Given the description of an element on the screen output the (x, y) to click on. 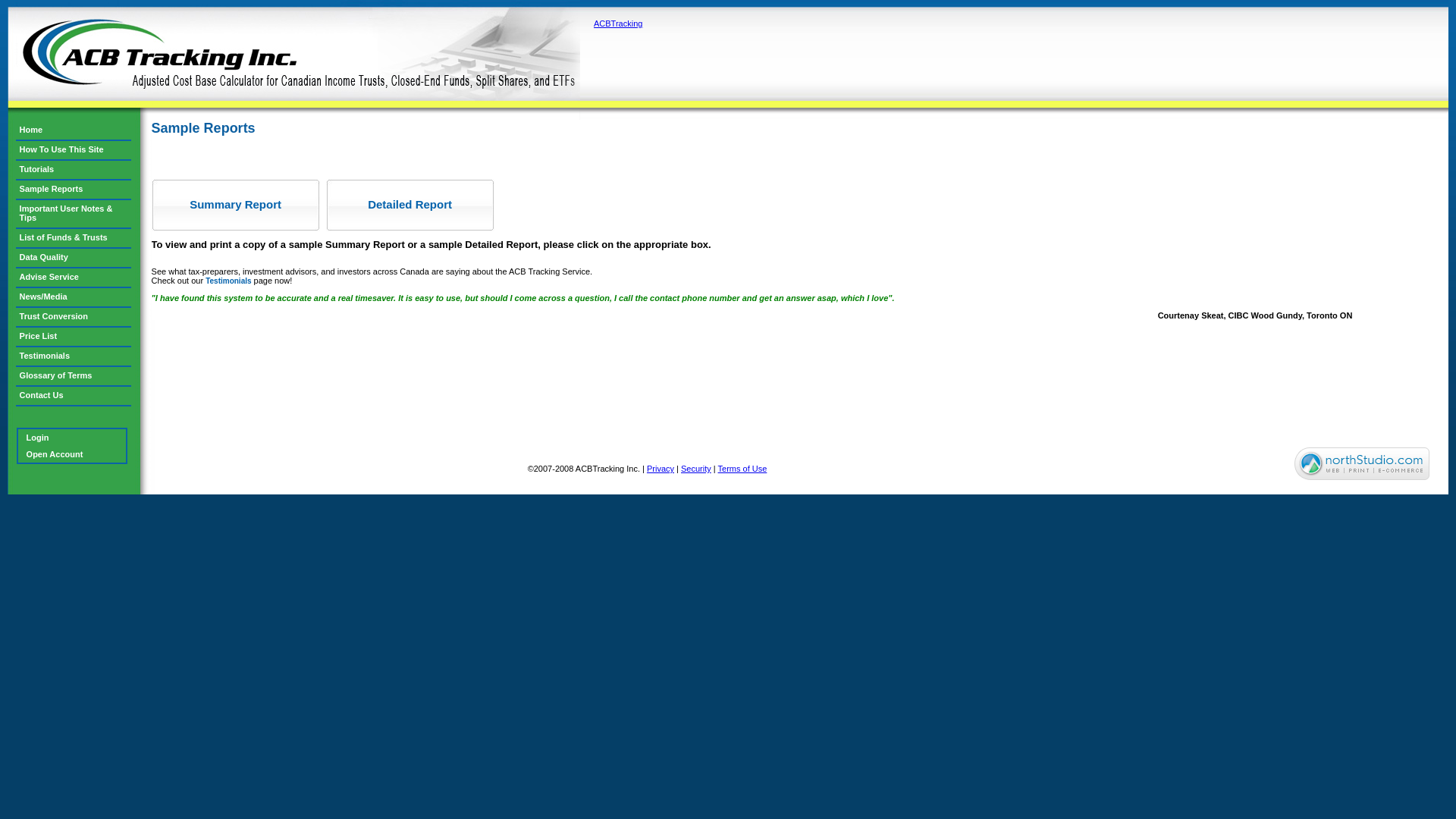
Terms of Use Element type: text (742, 468)
Data Quality Element type: text (73, 257)
Login Element type: text (68, 437)
Advise Service Element type: text (73, 277)
Privacy Element type: text (660, 468)
Detailed Report Element type: text (410, 204)
Testimonials Element type: text (228, 280)
Home Element type: text (73, 130)
How To Use This Site Element type: text (73, 150)
Home Element type: hover (293, 60)
Trust Conversion Element type: text (73, 316)
News/Media Element type: text (73, 297)
Summary Report Element type: text (235, 204)
Contact Us Element type: text (73, 395)
Tutorials Element type: text (73, 169)
Security Element type: text (695, 468)
Price List Element type: text (73, 336)
List of Funds & Trusts Element type: text (73, 238)
Glossary of Terms Element type: text (73, 376)
Testimonials Element type: text (73, 356)
Sample Reports Element type: text (73, 189)
ACBTracking Element type: text (617, 23)
Important User Notes & Tips Element type: text (73, 213)
Open Account Element type: text (68, 453)
